Given the description of an element on the screen output the (x, y) to click on. 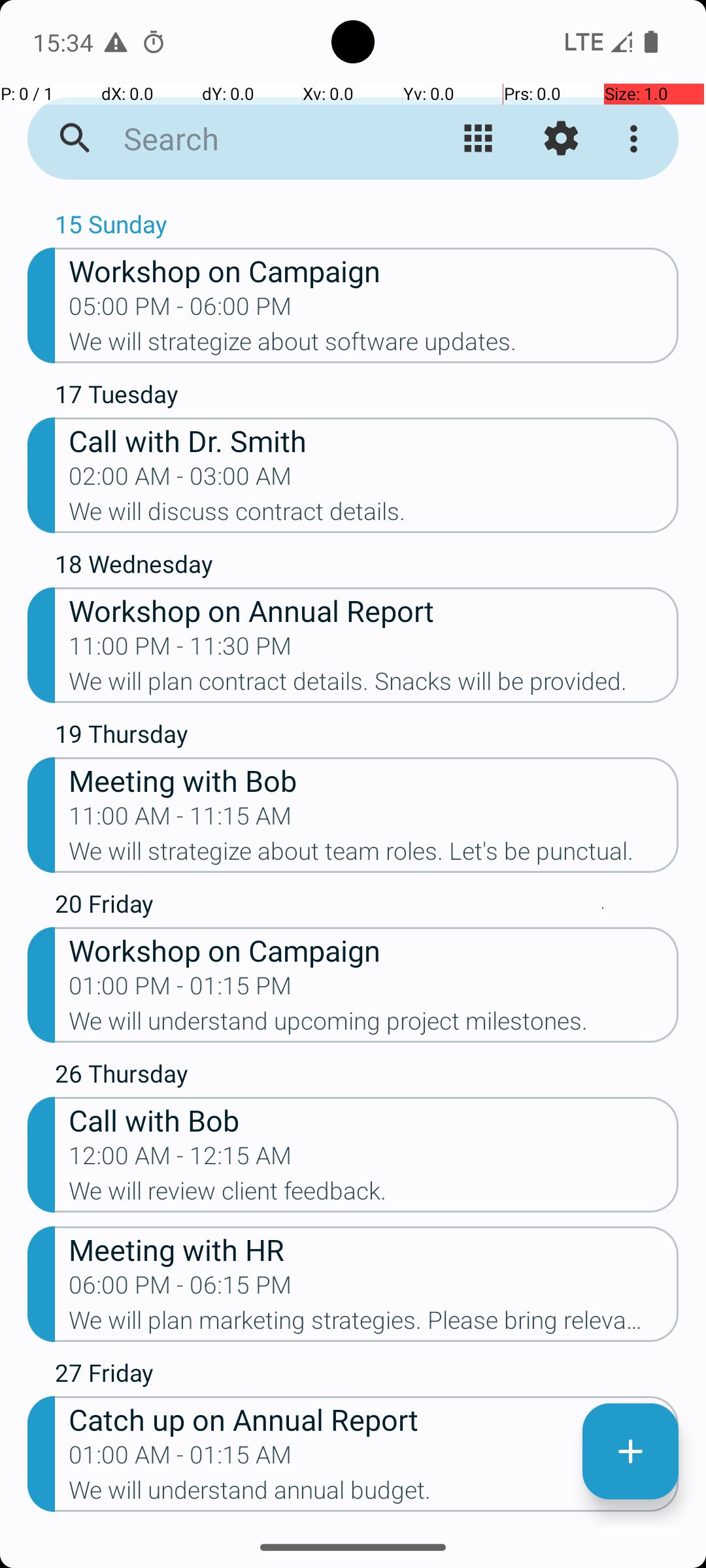
OCTOBER Element type: android.widget.TextView (353, 200)
15 Sunday Element type: android.widget.TextView (366, 227)
17 Tuesday Element type: android.widget.TextView (366, 396)
18 Wednesday Element type: android.widget.TextView (366, 566)
19 Thursday Element type: android.widget.TextView (366, 736)
20 Friday Element type: android.widget.TextView (366, 906)
26 Thursday Element type: android.widget.TextView (366, 1076)
27 Friday Element type: android.widget.TextView (366, 1375)
28 Saturday Element type: android.widget.TextView (366, 1525)
Workshop on Campaign Element type: android.widget.TextView (373, 269)
05:00 PM - 06:00 PM Element type: android.widget.TextView (179, 309)
We will strategize about software updates. Element type: android.widget.TextView (373, 345)
Call with Dr. Smith Element type: android.widget.TextView (373, 439)
02:00 AM - 03:00 AM Element type: android.widget.TextView (179, 479)
We will discuss contract details. Element type: android.widget.TextView (373, 515)
Workshop on Annual Report Element type: android.widget.TextView (373, 609)
11:00 PM - 11:30 PM Element type: android.widget.TextView (179, 649)
We will plan contract details. Snacks will be provided. Element type: android.widget.TextView (373, 684)
Meeting with Bob Element type: android.widget.TextView (373, 779)
11:00 AM - 11:15 AM Element type: android.widget.TextView (179, 819)
We will strategize about team roles. Let's be punctual. Element type: android.widget.TextView (373, 854)
01:00 PM - 01:15 PM Element type: android.widget.TextView (179, 989)
We will understand upcoming project milestones. Element type: android.widget.TextView (373, 1024)
Call with Bob Element type: android.widget.TextView (373, 1119)
12:00 AM - 12:15 AM Element type: android.widget.TextView (179, 1159)
We will review client feedback. Element type: android.widget.TextView (373, 1194)
Meeting with HR Element type: android.widget.TextView (373, 1248)
06:00 PM - 06:15 PM Element type: android.widget.TextView (179, 1288)
We will plan marketing strategies. Please bring relevant documents. Element type: android.widget.TextView (373, 1323)
Catch up on Annual Report Element type: android.widget.TextView (373, 1418)
01:00 AM - 01:15 AM Element type: android.widget.TextView (179, 1458)
We will understand annual budget. Element type: android.widget.TextView (373, 1493)
